Given the description of an element on the screen output the (x, y) to click on. 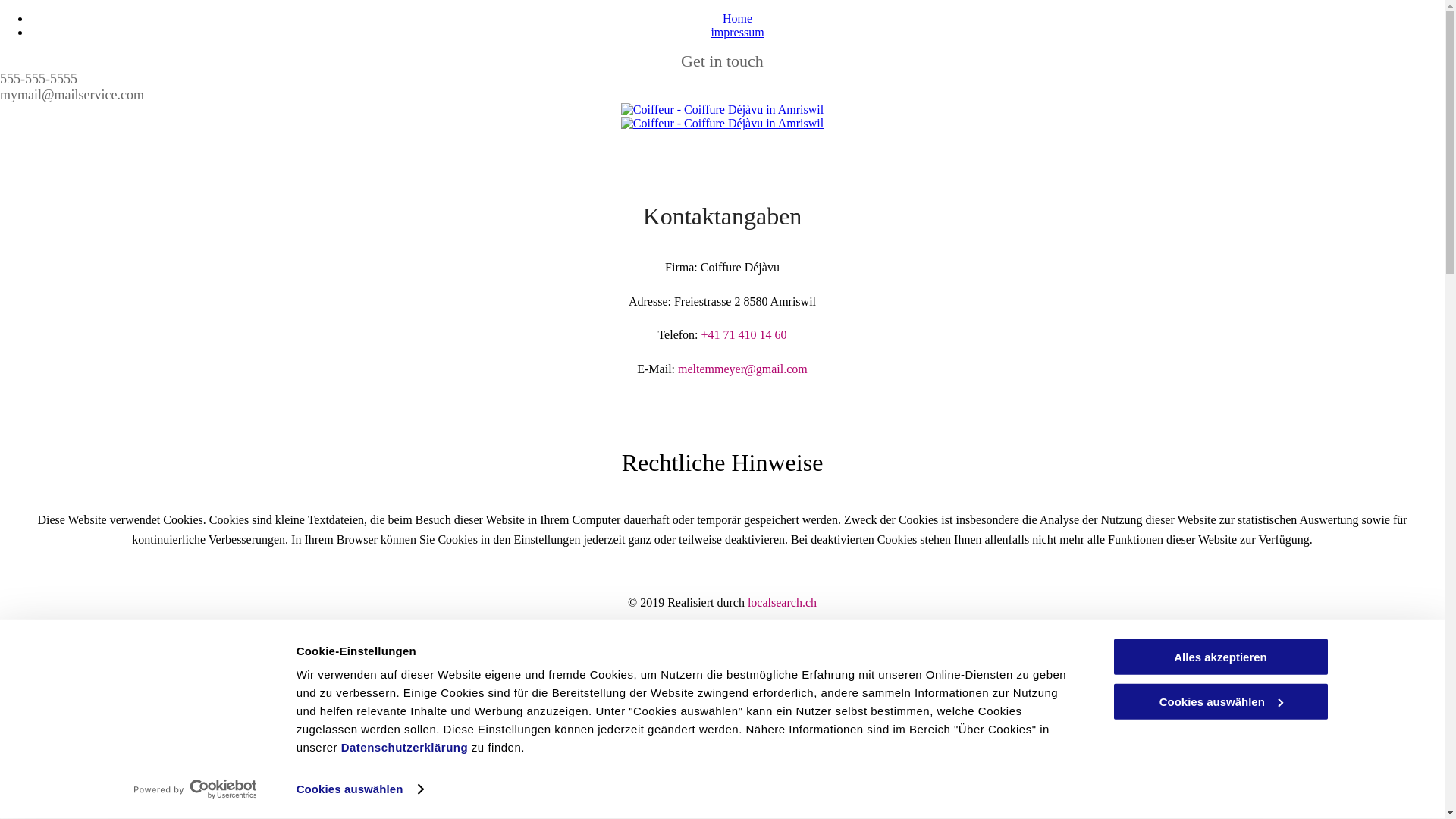
meltemmeyer@gmail.com Element type: text (742, 368)
search.ch Element type: text (816, 633)
Alles akzeptieren Element type: text (1219, 656)
+41 71 410 14 60 Element type: text (744, 334)
localsearch.ch Element type: text (781, 602)
impressum Element type: text (736, 31)
Home Element type: text (737, 18)
local.ch Element type: text (749, 633)
